Given the description of an element on the screen output the (x, y) to click on. 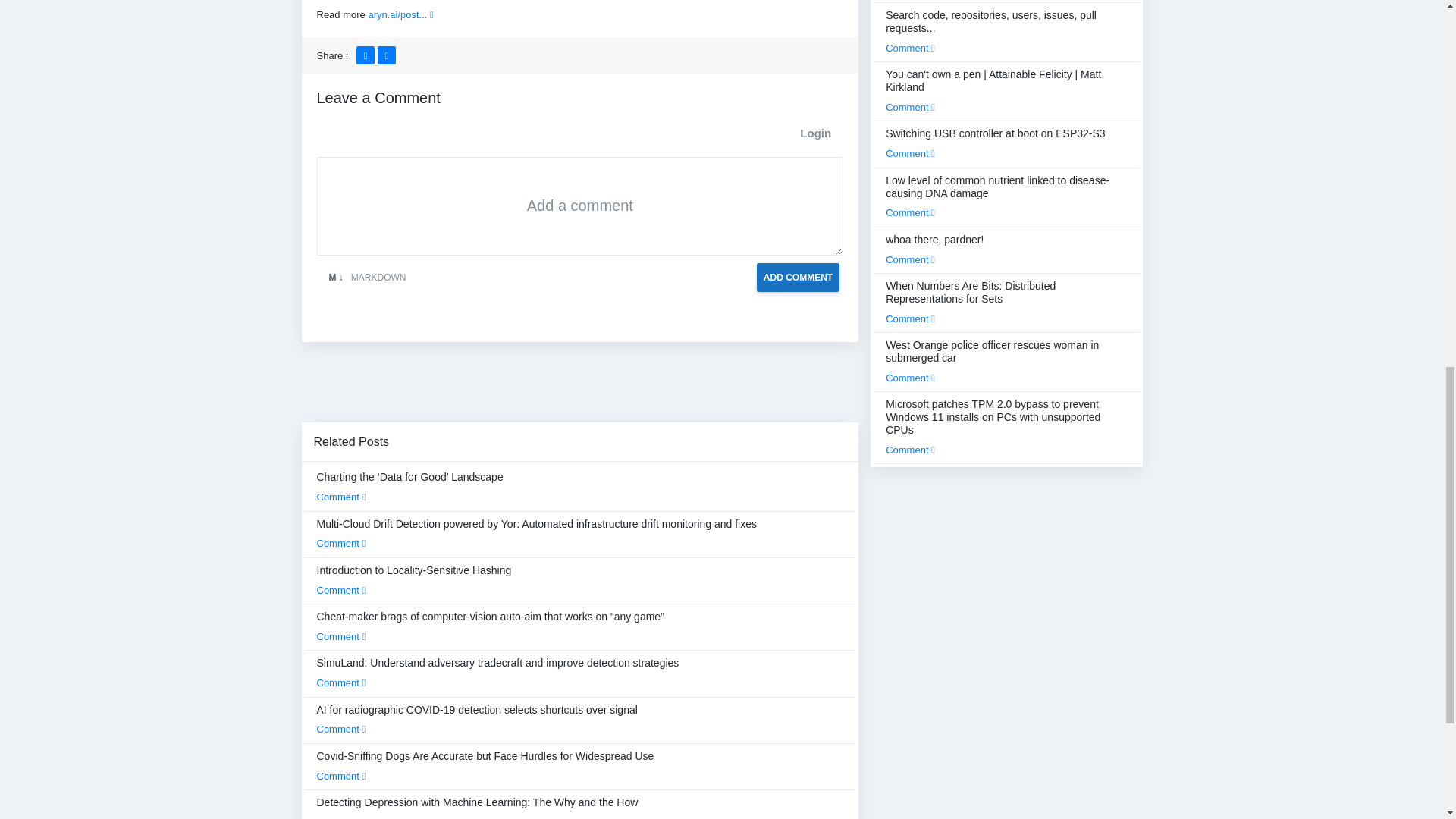
Comment (341, 636)
Comment (341, 776)
Comment (341, 728)
Introduction to Locality-Sensitive Hashing (414, 580)
Comment (341, 682)
Comment (341, 590)
Comment (341, 496)
